Given the description of an element on the screen output the (x, y) to click on. 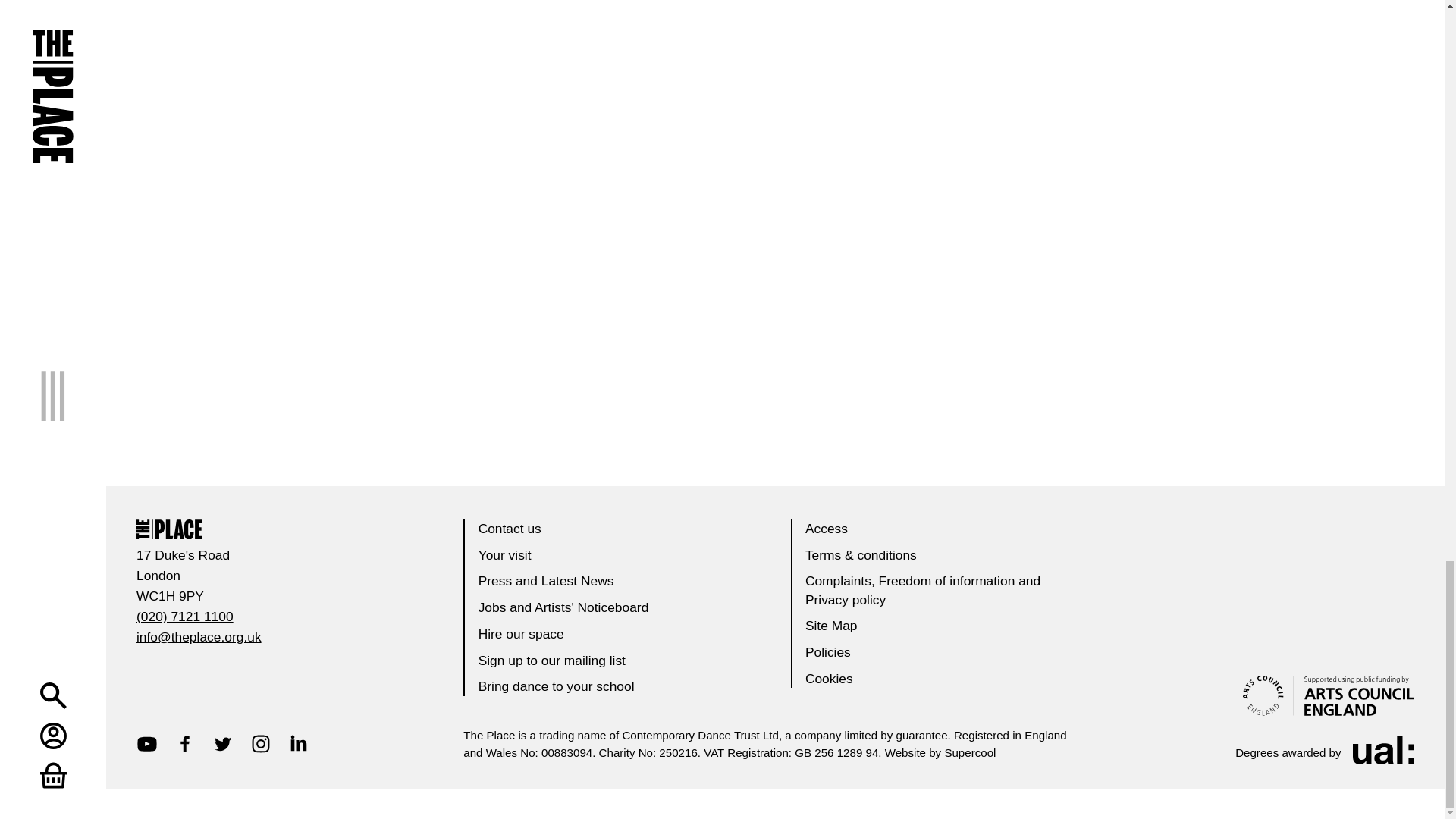
Jobs and Artists' Noticeboard (564, 607)
Bring dance to your school (556, 685)
LinkedIn (298, 742)
Contact us (510, 528)
Facebook (185, 742)
Press and Latest News (546, 580)
Complaints, Freedom of information and Privacy policy (923, 589)
Cookies (829, 678)
Access (826, 528)
Policies (827, 652)
Your visit (505, 554)
Site Map (831, 625)
Instagram (261, 742)
Hire our space (521, 633)
Sign up to our mailing list (552, 660)
